Given the description of an element on the screen output the (x, y) to click on. 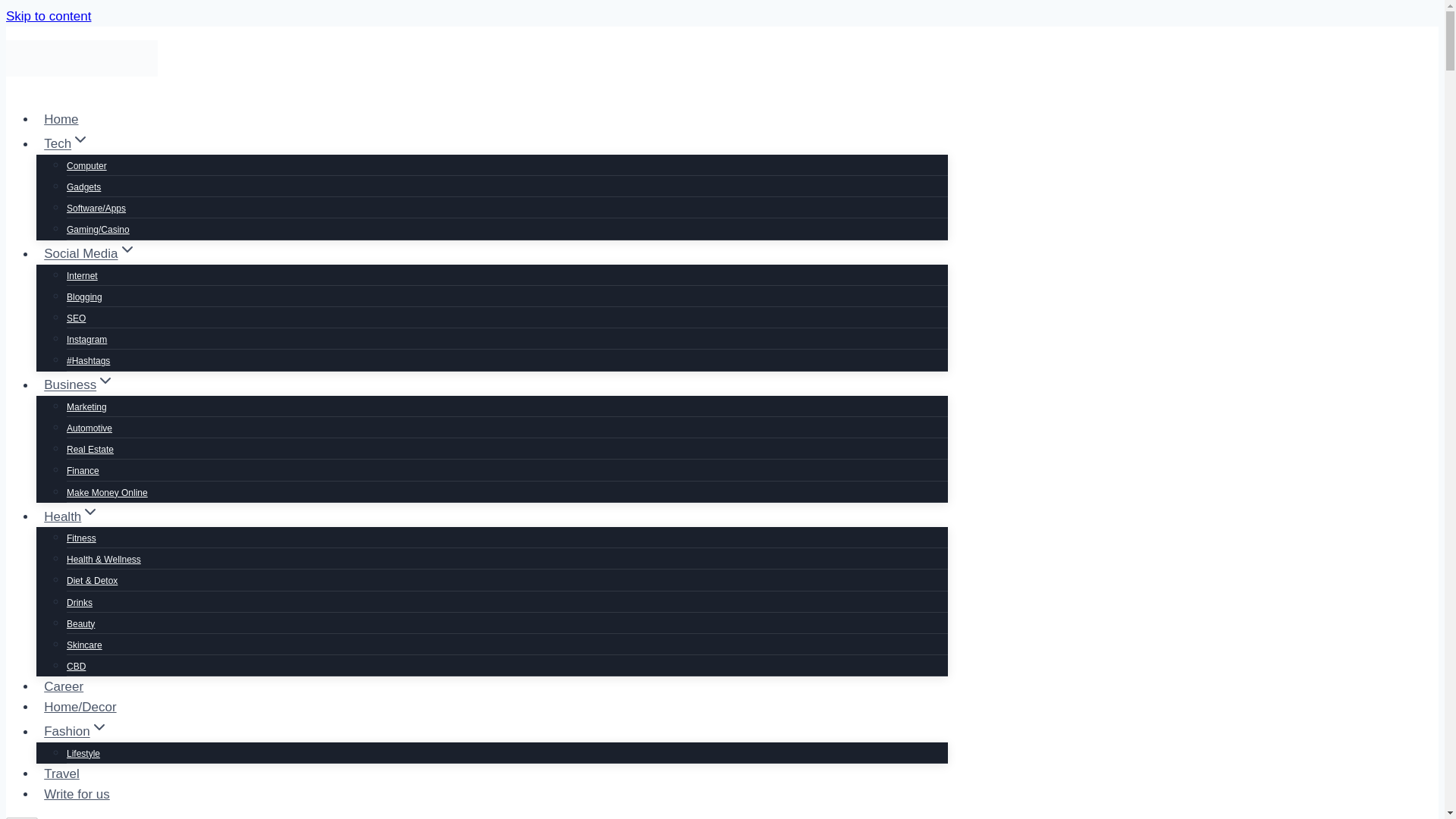
HealthExpand (71, 516)
Drinks (79, 602)
Marketing (86, 407)
Skincare (83, 645)
Expand (90, 511)
Make Money Online (107, 492)
Expand (98, 727)
Automotive (89, 428)
Computer (86, 165)
Social MediaExpand (90, 253)
